Given the description of an element on the screen output the (x, y) to click on. 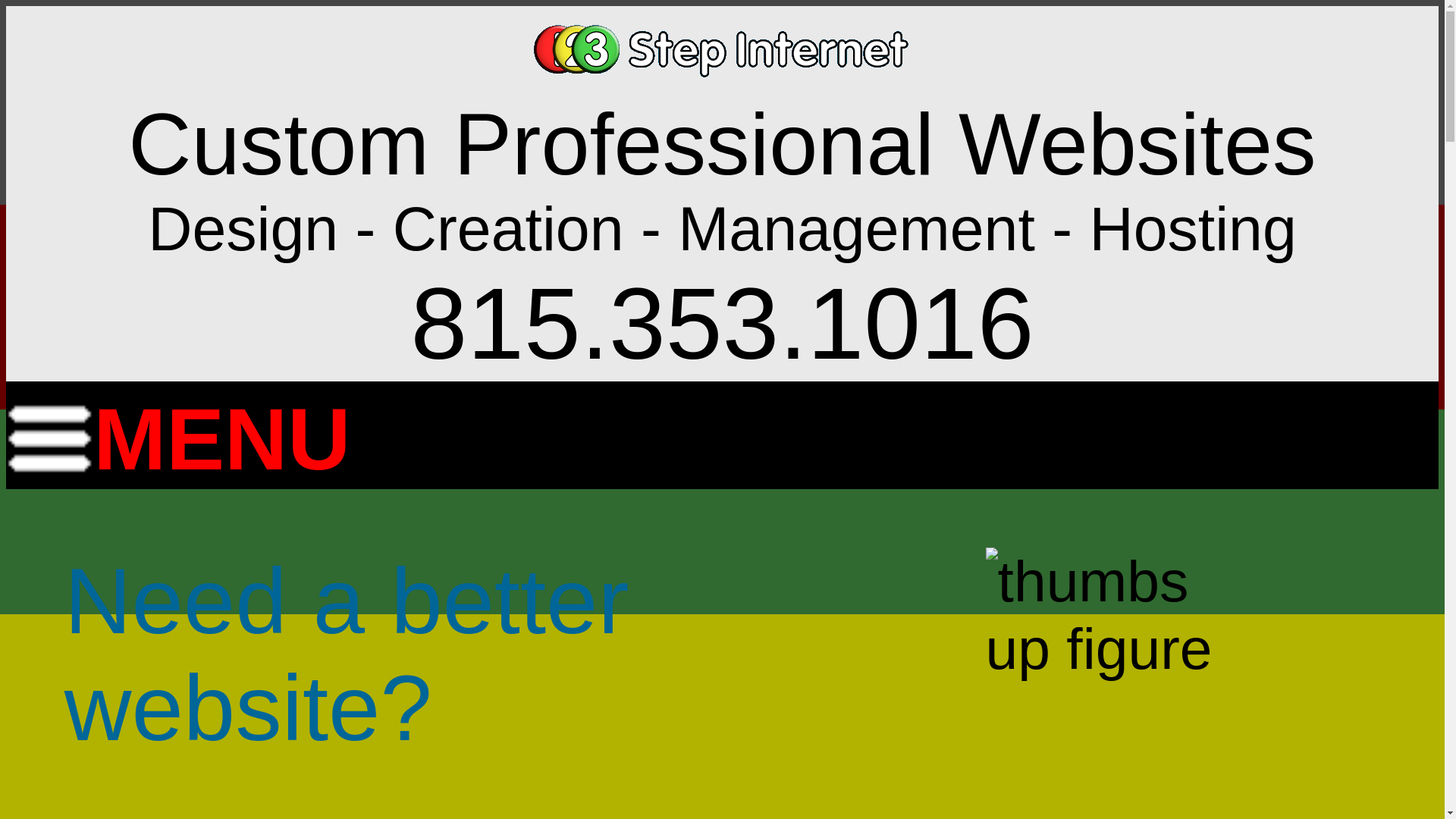
3 Step Sites Are A-Ok Element type: hover (1106, 614)
MENU Element type: text (178, 431)
